Given the description of an element on the screen output the (x, y) to click on. 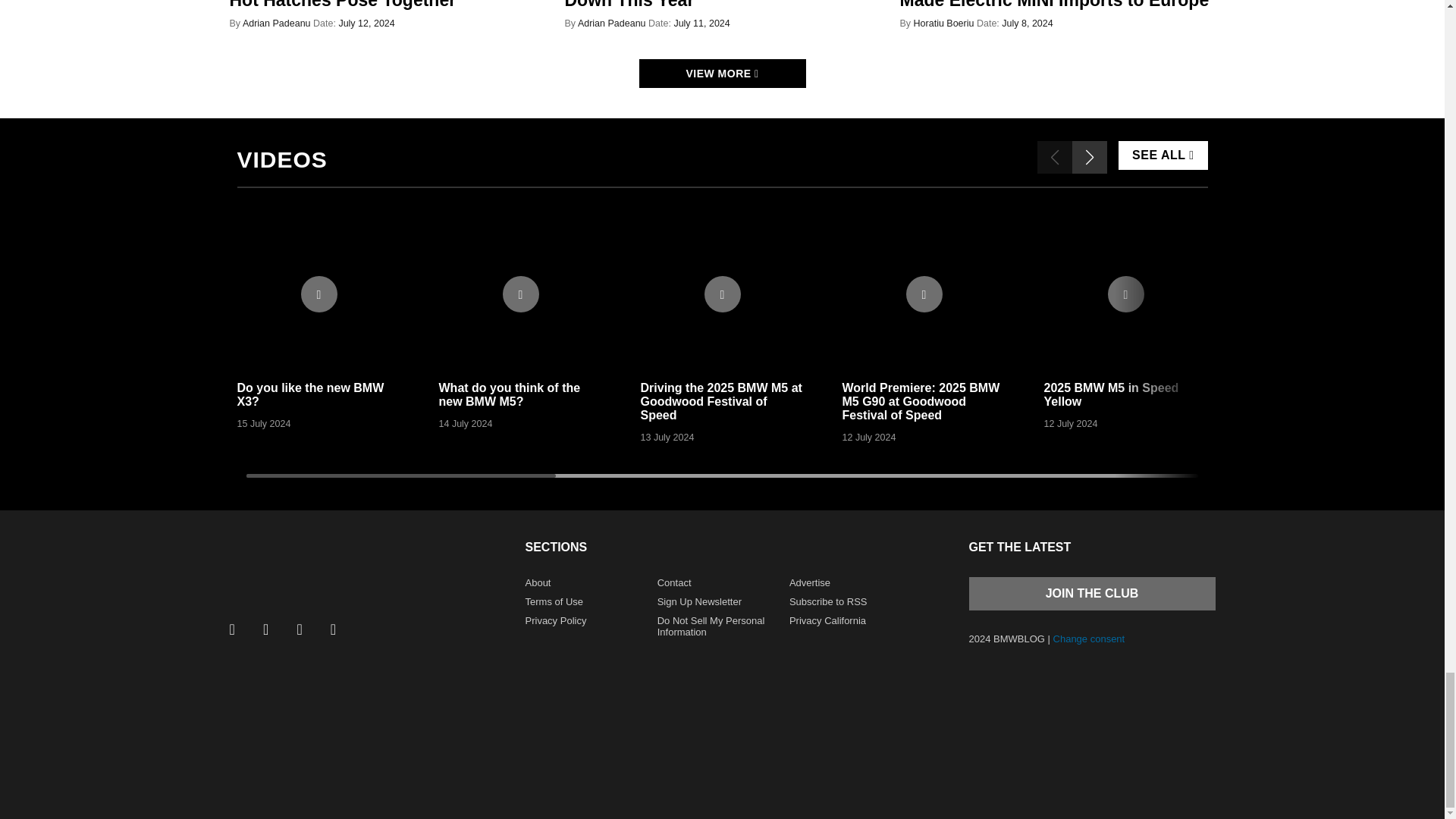
Join the club (1092, 593)
